Given the description of an element on the screen output the (x, y) to click on. 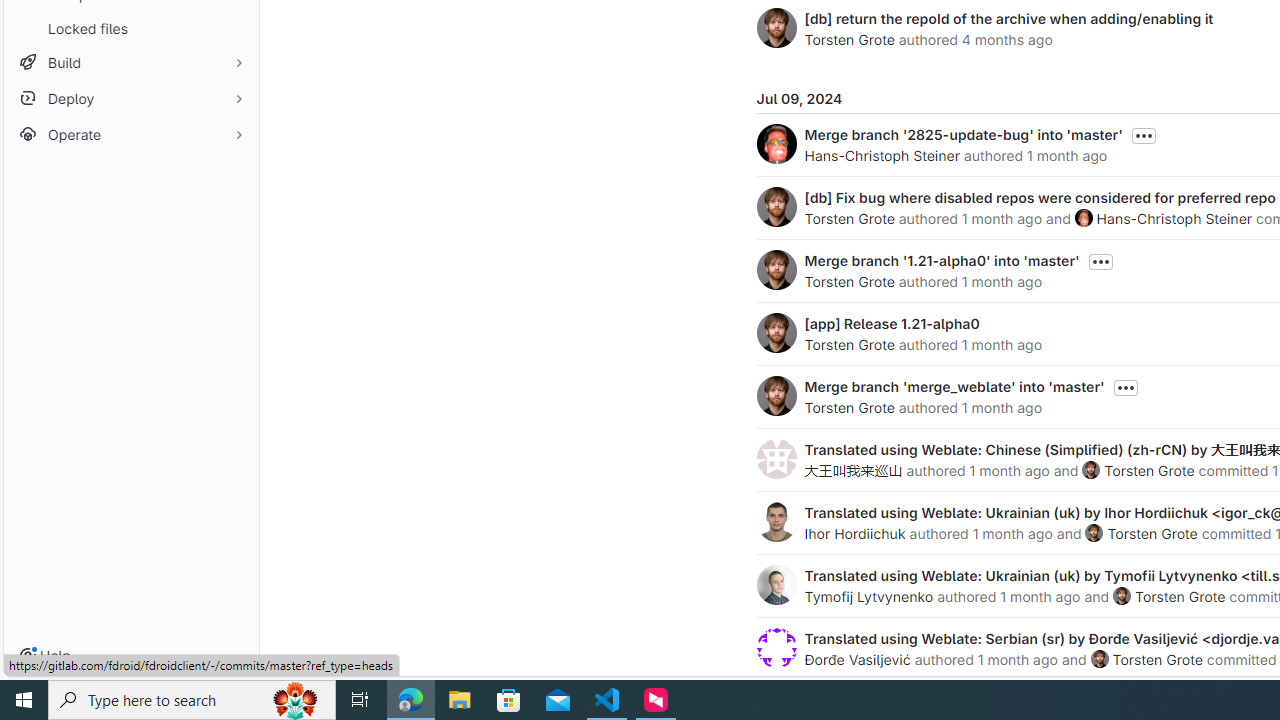
Toggle commit description (1125, 388)
Merge branch 'merge_weblate' into 'master' (953, 386)
[app] Release 1.21-alpha0 (891, 323)
Deploy (130, 98)
Operate (130, 134)
Locked files (130, 28)
Hans-Christoph Steiner (1174, 218)
Ihor Hordiichuk (854, 533)
Hans-Christoph Steiner's avatar (1083, 217)
Tymofij Lytvynenko (868, 596)
Hans-Christoph Steiner's avatar (1083, 217)
